Given the description of an element on the screen output the (x, y) to click on. 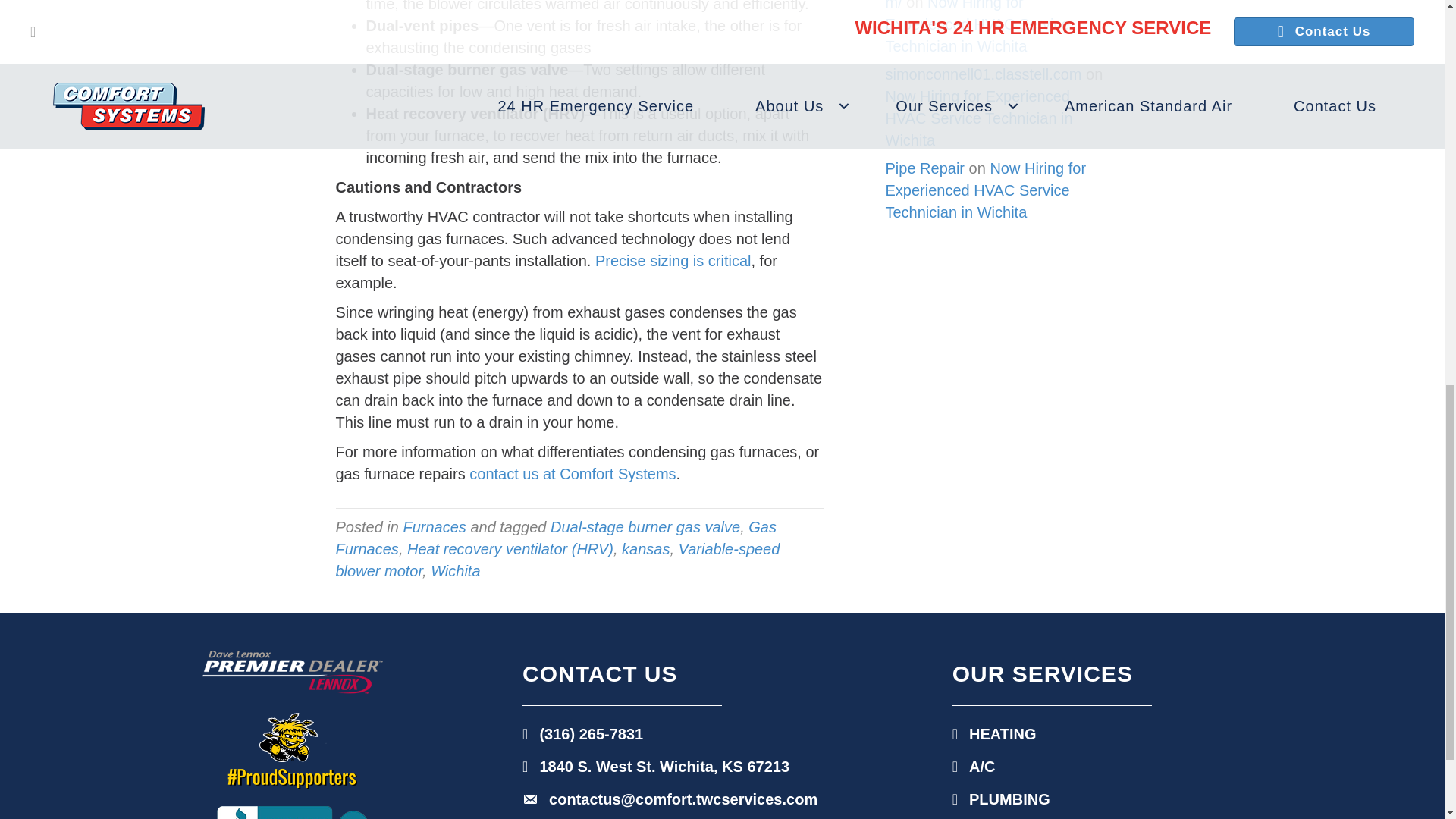
lennox-dealer (292, 671)
Precise sizing is critical (673, 260)
contact us at Comfort Systems (571, 474)
shocker-2 (292, 750)
Dual-stage burner gas valve (644, 526)
bbb-accredited-business (292, 812)
kansas (645, 548)
Variable-speed blower motor (556, 559)
Gas Furnaces (555, 537)
Furnaces (434, 526)
Wichita (455, 570)
